Given the description of an element on the screen output the (x, y) to click on. 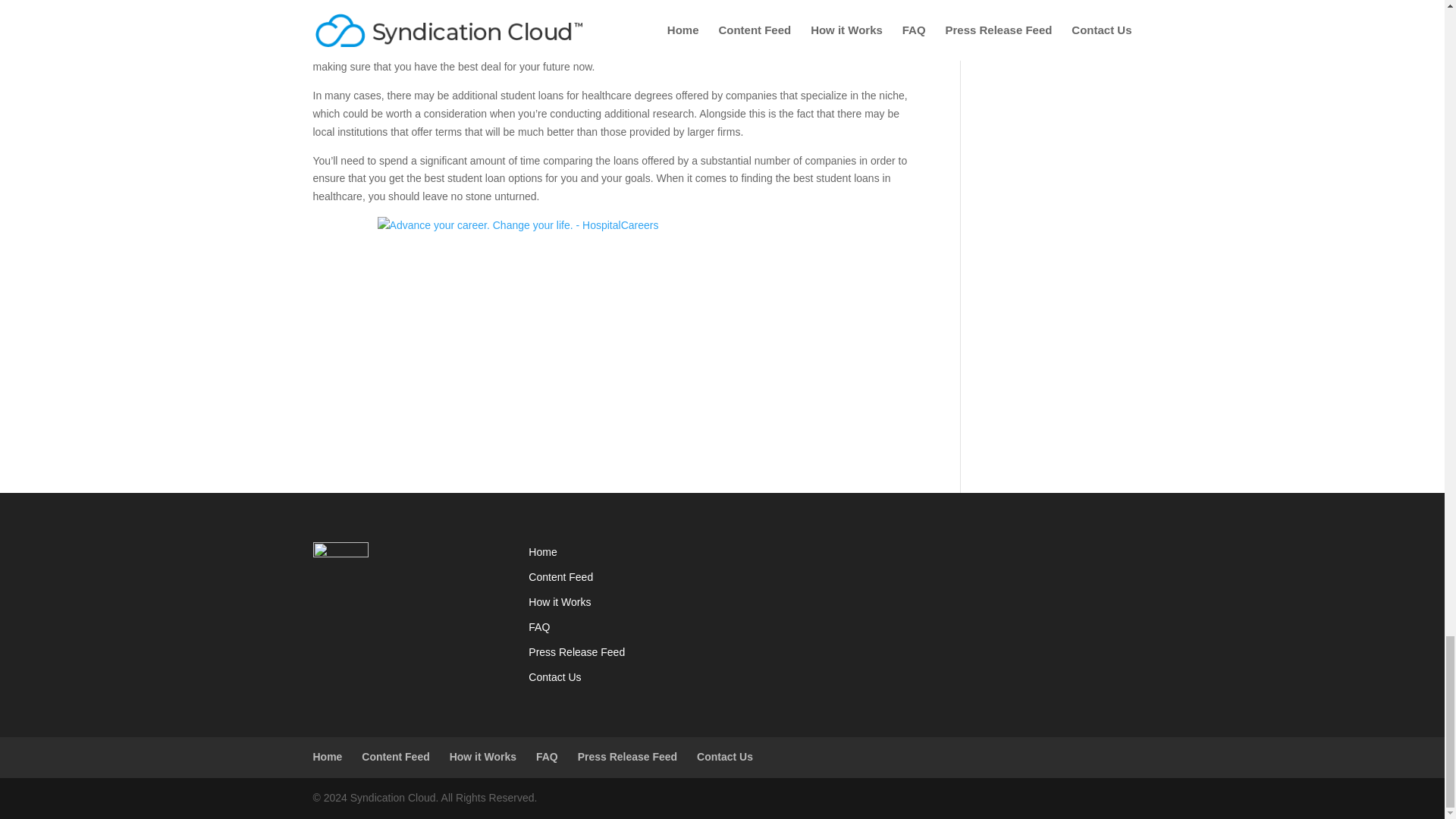
Advance your career - HospitalCareers (614, 326)
